Given the description of an element on the screen output the (x, y) to click on. 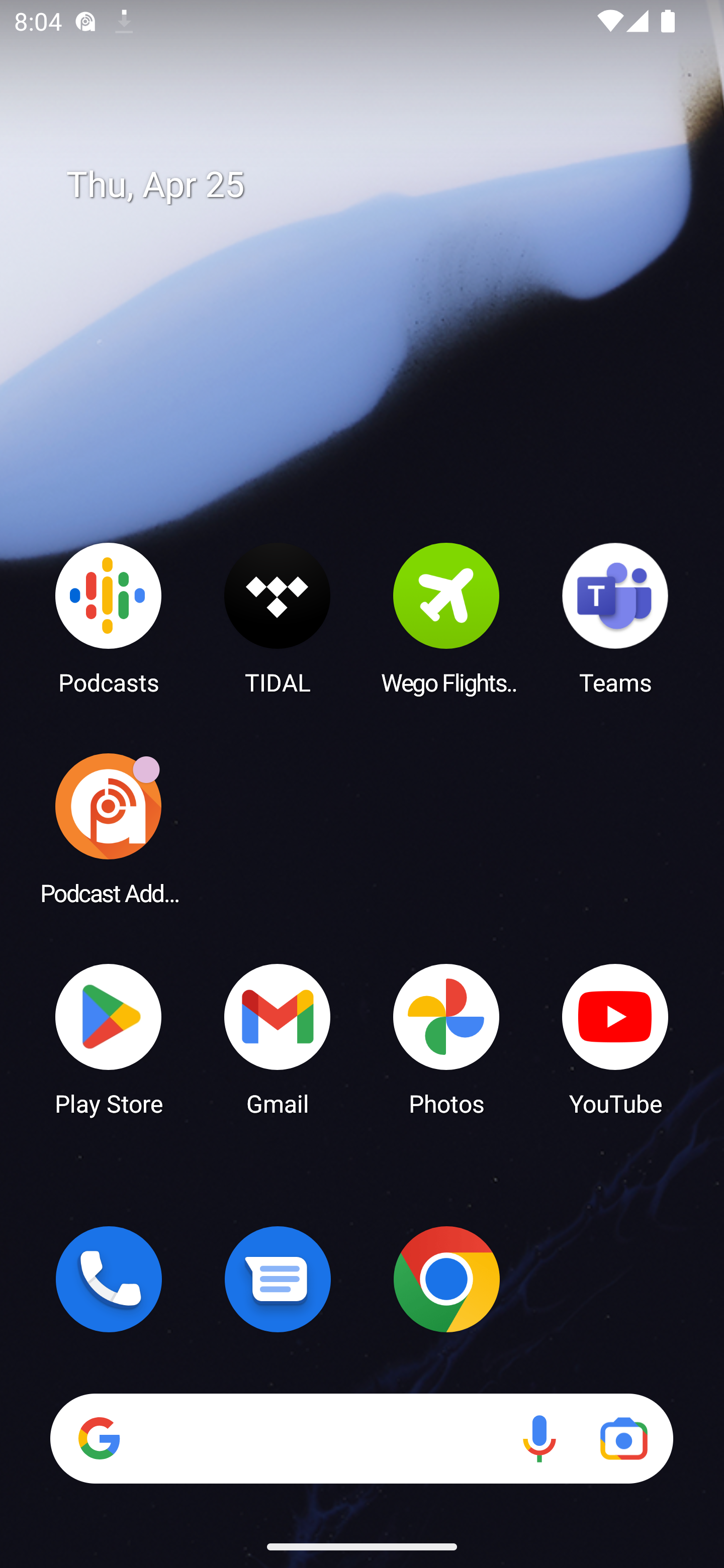
Thu, Apr 25 (375, 184)
Podcasts (108, 617)
TIDAL (277, 617)
Wego Flights & Hotels (445, 617)
Teams (615, 617)
Play Store (108, 1038)
Gmail (277, 1038)
Photos (445, 1038)
YouTube (615, 1038)
Phone (108, 1279)
Messages (277, 1279)
Chrome (446, 1279)
Search Voice search Google Lens (361, 1438)
Voice search (539, 1438)
Google Lens (623, 1438)
